Given the description of an element on the screen output the (x, y) to click on. 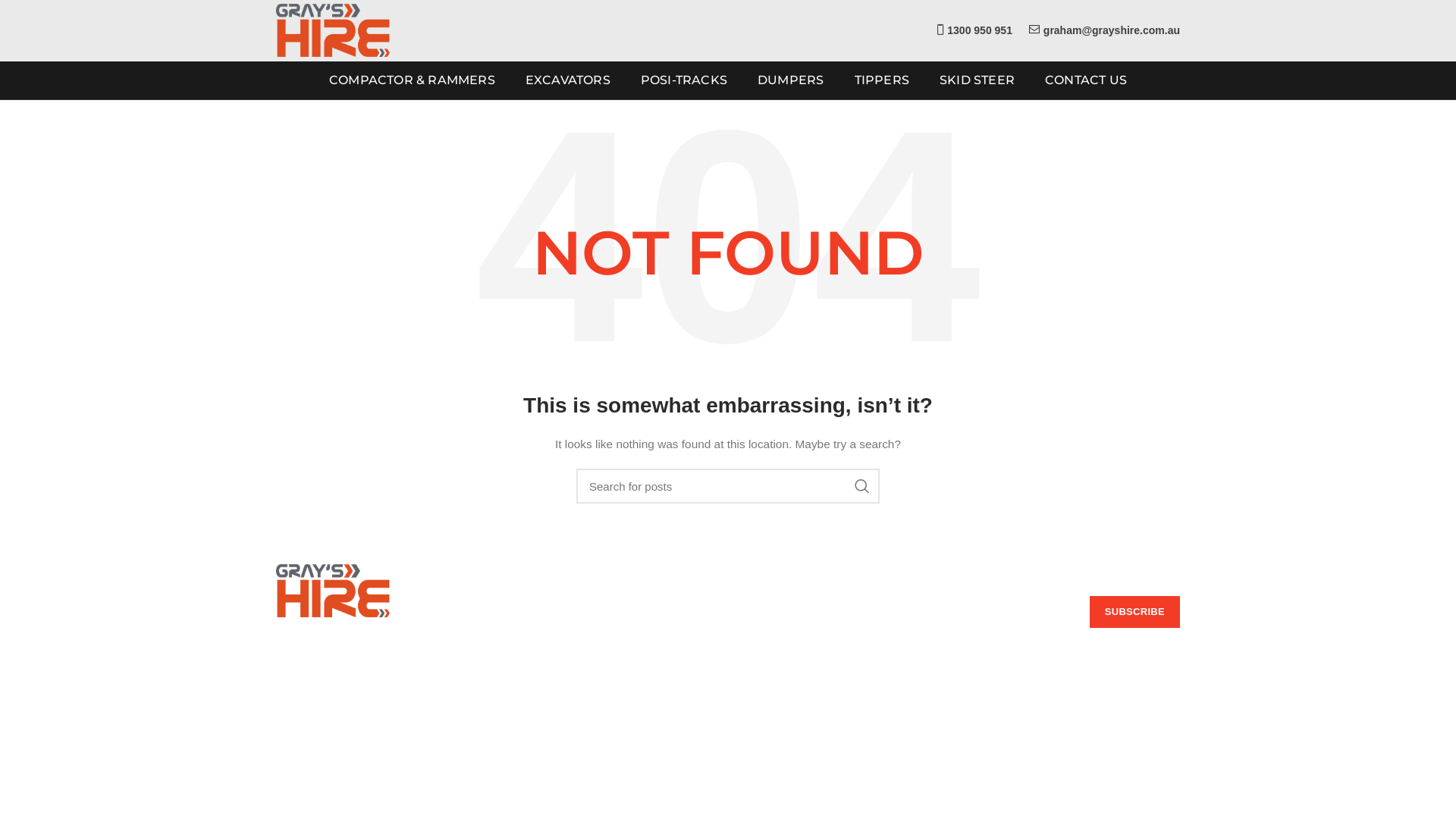
Search for posts Element type: hover (727, 485)
DUMPERS Element type: text (790, 80)
graham@grayshire.com.au Element type: text (356, 701)
SEARCH Element type: text (861, 485)
CONTACT US Element type: text (1085, 80)
Tippers Element type: text (756, 708)
SKID STEER Element type: text (976, 80)
COMPACTOR & RAMMERS Element type: text (411, 80)
MetaWeb Element type: text (1156, 795)
Compactor & Rammers Element type: text (794, 603)
1300 950 951 Element type: text (974, 30)
Contact Us Element type: text (534, 655)
Privacy Policy Element type: text (541, 734)
graham@grayshire.com.au Element type: text (1103, 30)
Posi-Tracks Element type: text (766, 655)
Legal Info Element type: text (531, 708)
POSI-TRACKS Element type: text (683, 80)
1300 950 951 Element type: text (320, 679)
Excavators Element type: text (765, 629)
Subscribe Element type: text (1134, 611)
About Us Element type: text (530, 629)
TIPPERS Element type: text (881, 80)
Home Element type: text (522, 603)
EXCAVATORS Element type: text (567, 80)
Terms of Hire Element type: text (539, 682)
Dumpers Element type: text (760, 682)
